Given the description of an element on the screen output the (x, y) to click on. 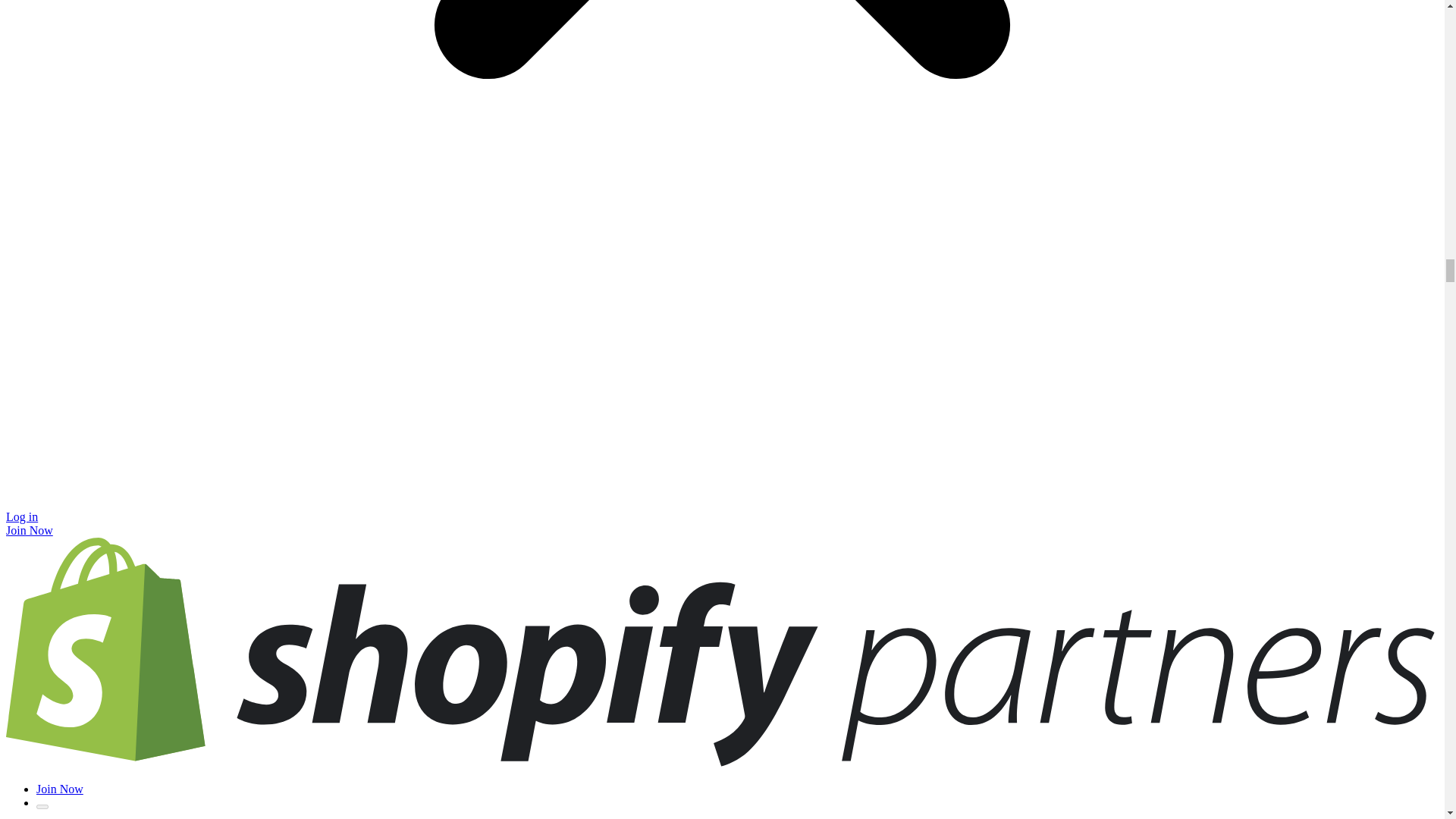
Join Now (28, 530)
Join Now (59, 788)
Log in (21, 516)
